Given the description of an element on the screen output the (x, y) to click on. 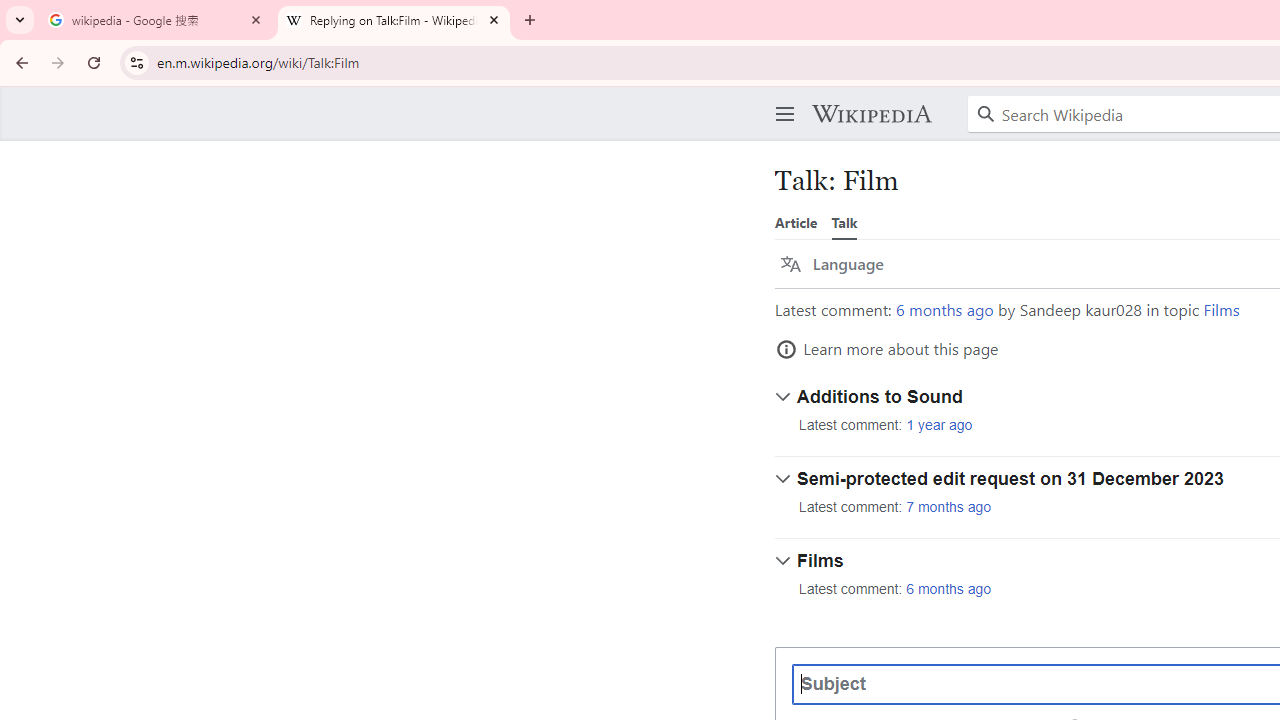
6 months ago (949, 589)
Language (832, 264)
Article (795, 222)
Talk (843, 222)
Films (1221, 309)
Replying on Talk:Film - Wikipedia (394, 20)
AutomationID: main-menu-input (781, 98)
